Given the description of an element on the screen output the (x, y) to click on. 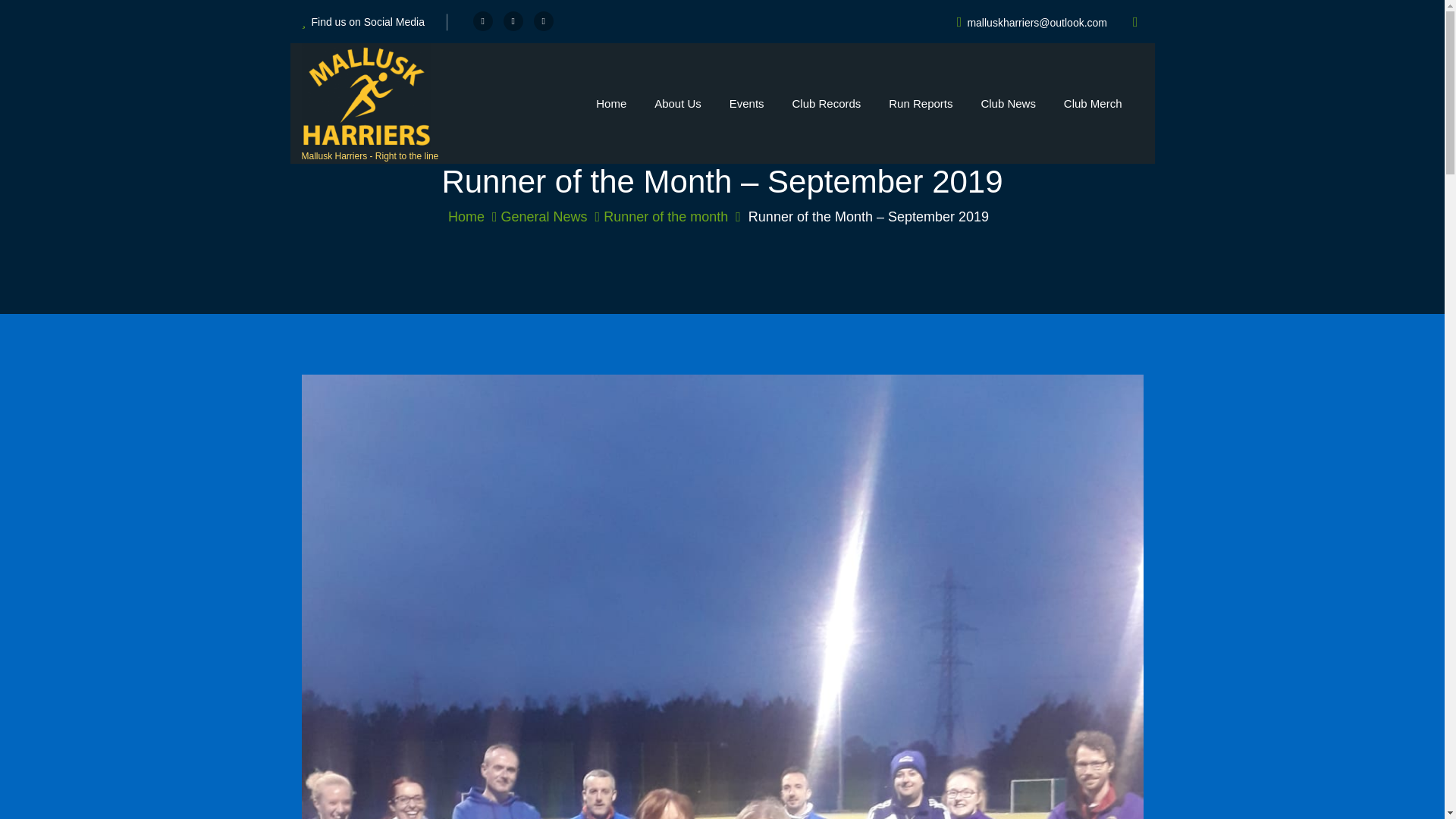
Events (746, 103)
Club Records (826, 103)
Run Reports (920, 103)
General News (549, 216)
Home (472, 216)
Club Records (826, 103)
Home (611, 103)
Home (611, 103)
Club News (1007, 103)
Club Merch (1092, 103)
Run Reports (920, 103)
Events (746, 103)
About Us (677, 103)
About Us (677, 103)
